Given the description of an element on the screen output the (x, y) to click on. 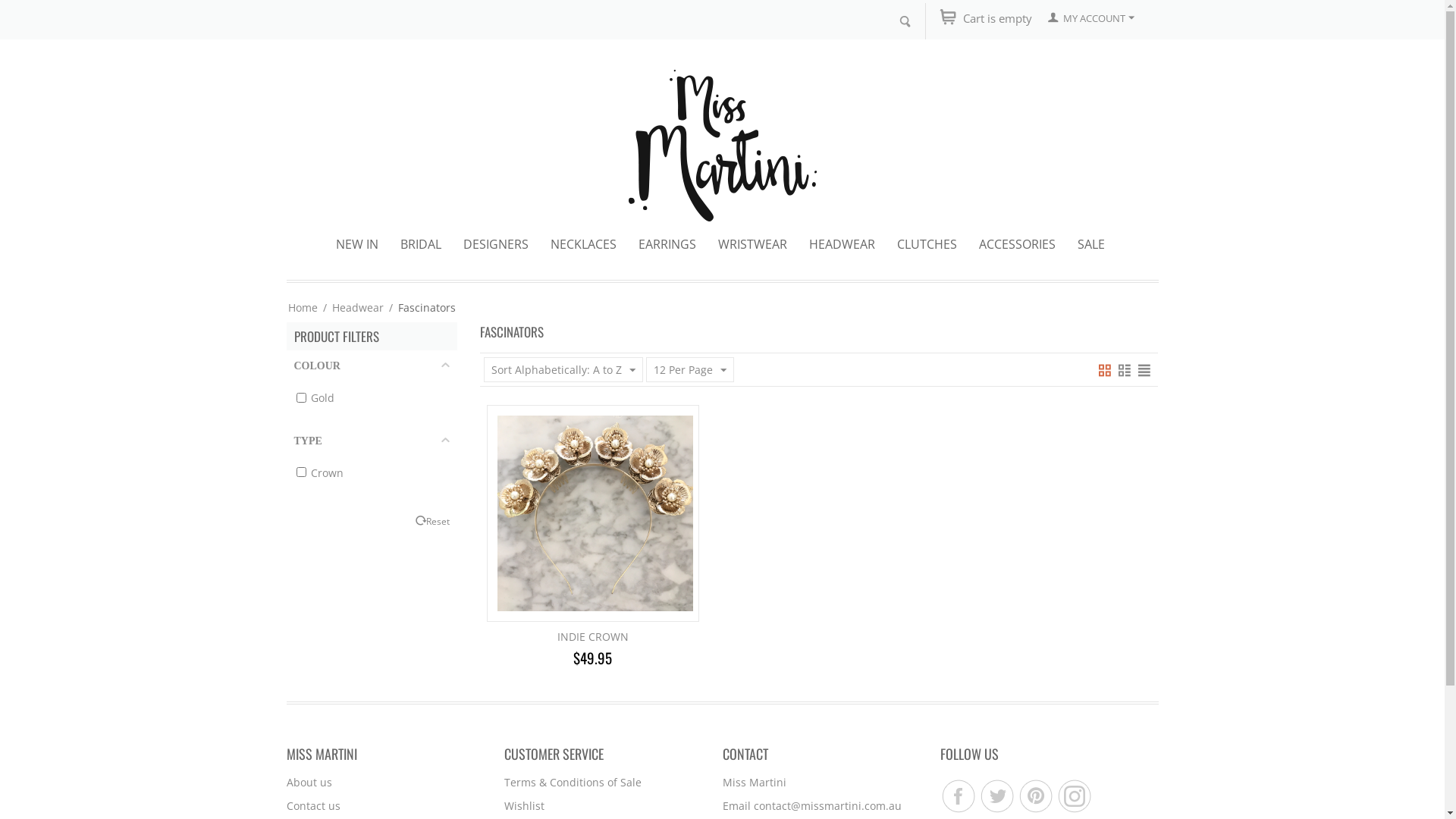
NEW IN Element type: text (356, 243)
BRIDAL Element type: text (420, 243)
INDIE CROWN Element type: text (592, 636)
CLUTCHES Element type: text (926, 243)
ACCESSORIES Element type: text (1017, 243)
NECKLACES Element type: text (583, 243)
Home Element type: text (302, 307)
Terms & Conditions of Sale Element type: text (572, 782)
Wishlist Element type: text (524, 805)
Contact us Element type: text (313, 805)
Headwear Element type: text (357, 307)
SALE Element type: text (1091, 243)
About us Element type: text (309, 782)
WRISTWEAR Element type: text (752, 243)
Instagram Element type: text (1073, 795)
Facebook Element type: text (957, 795)
Cart is empty Element type: text (997, 18)
Twitter Element type: text (996, 795)
Pinterest Element type: text (1034, 795)
Reset Element type: text (437, 520)
Sort Alphabetically: A to Z Element type: text (563, 369)
Email contact@missmartini.com.au Element type: text (810, 805)
EARRINGS Element type: text (666, 243)
DESIGNERS Element type: text (495, 243)
  MY ACCOUNT Element type: text (1091, 18)
12 Per Page Element type: text (690, 369)
HEADWEAR Element type: text (841, 243)
